Given the description of an element on the screen output the (x, y) to click on. 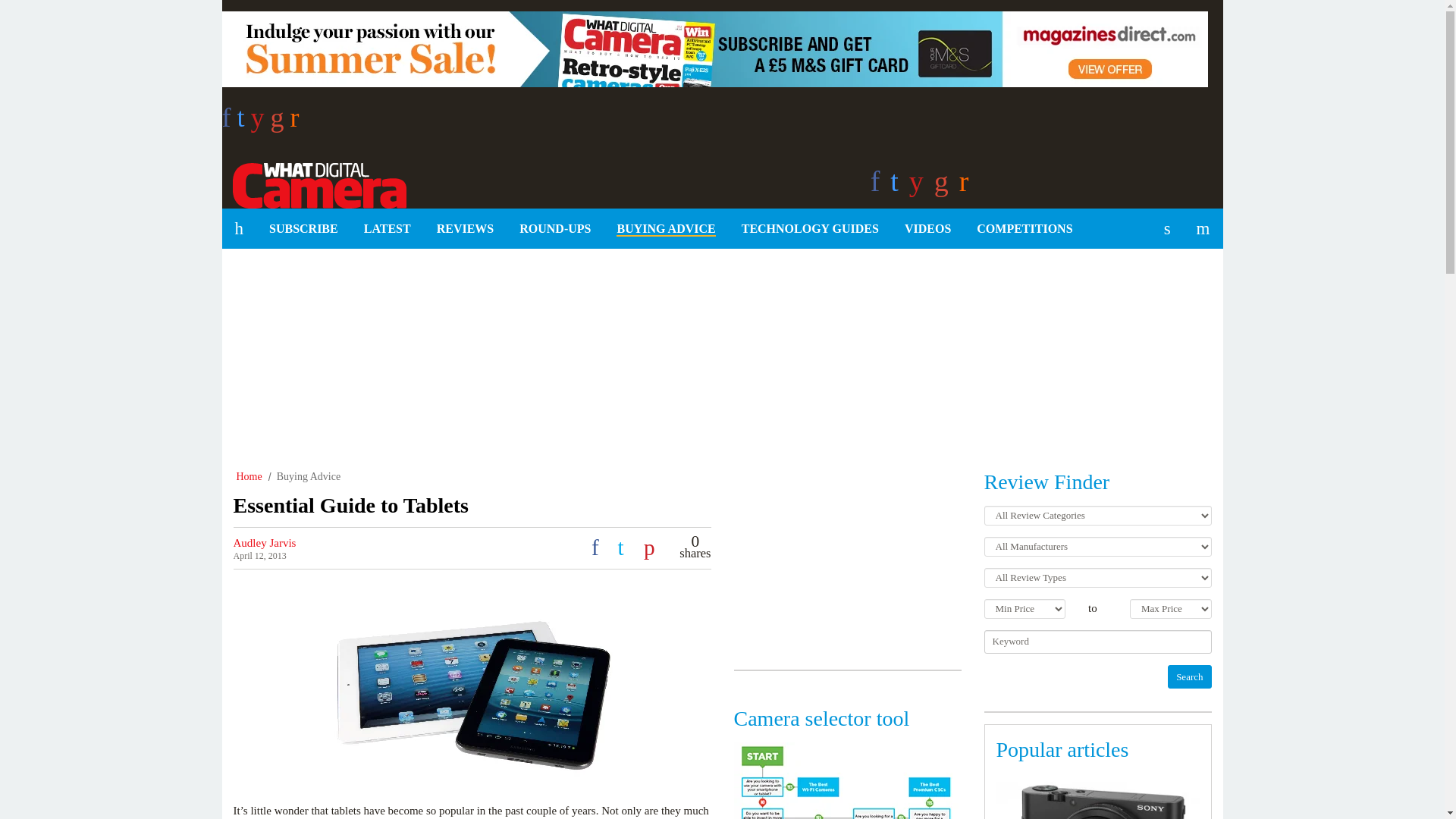
What Digital Camera (313, 182)
t (242, 122)
Audley Jarvis's Profile (264, 542)
g (279, 122)
What Digital Camera (313, 182)
ROUND-UPS (555, 228)
y (260, 122)
REVIEWS (464, 228)
Search (1189, 677)
f (228, 122)
LATEST (386, 228)
BUYING ADVICE (666, 228)
SUBSCRIBE (303, 228)
